Given the description of an element on the screen output the (x, y) to click on. 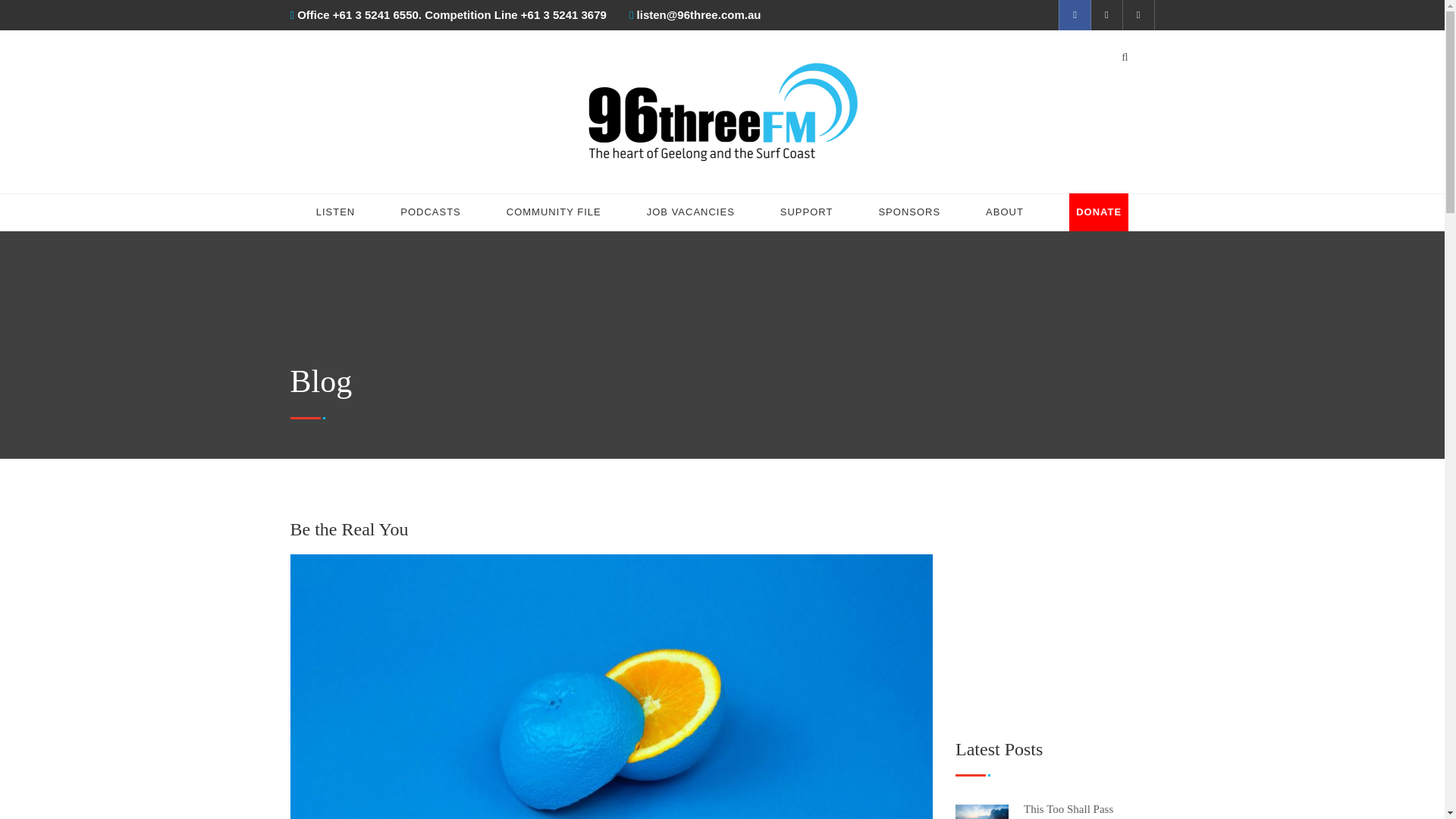
  DONATE   (1098, 211)
JOB VACANCIES (690, 211)
SPONSORS (908, 211)
ABOUT (1004, 211)
COMMUNITY FILE (553, 211)
LISTEN (335, 211)
SUPPORT (806, 211)
PODCASTS (430, 211)
